Given the description of an element on the screen output the (x, y) to click on. 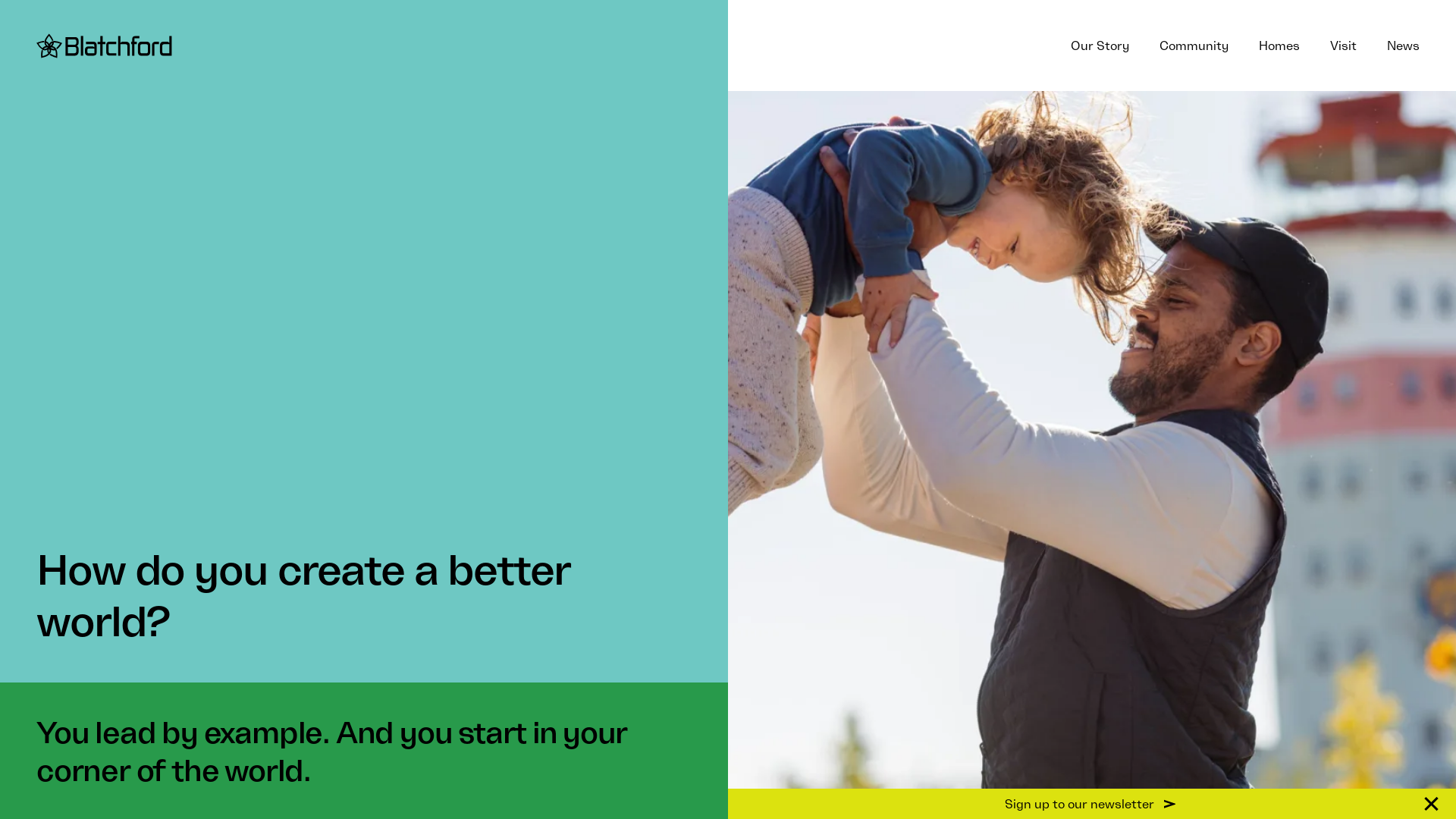
Community Element type: text (1193, 45)
Visit Element type: text (1342, 45)
News Element type: text (1402, 45)
Sign up to our newsletter Element type: text (1091, 803)
Our Story Element type: text (1099, 45)
Homes Element type: text (1278, 45)
